Given the description of an element on the screen output the (x, y) to click on. 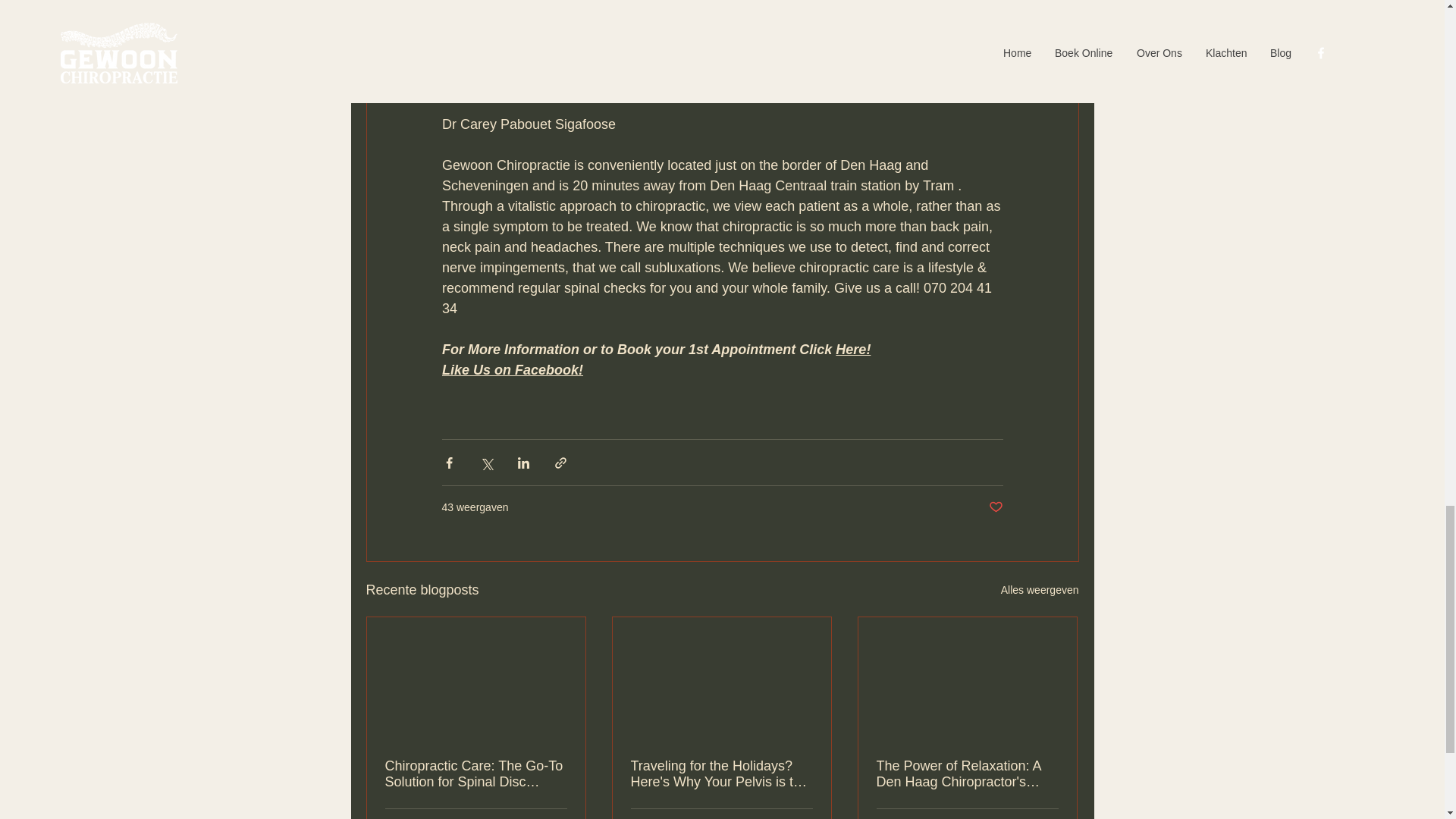
Post is niet als leuk gemarkeerd (995, 507)
Here! (852, 349)
Like Us on Facebook! (511, 369)
Alles weergeven (1039, 590)
